Given the description of an element on the screen output the (x, y) to click on. 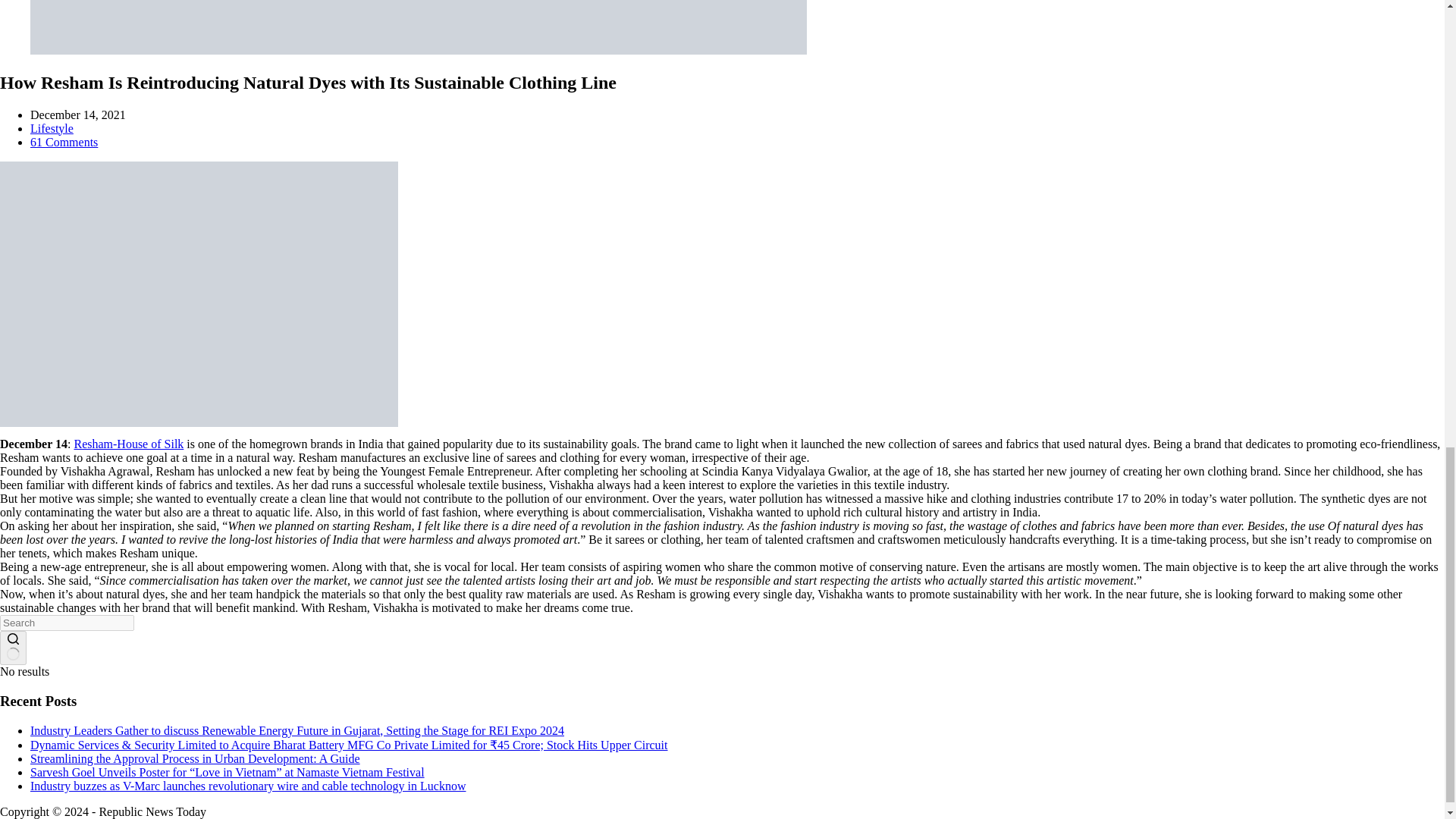
Resham-House of Silk (128, 443)
Search for... (66, 622)
Lifestyle (52, 128)
61 Comments (63, 141)
